Given the description of an element on the screen output the (x, y) to click on. 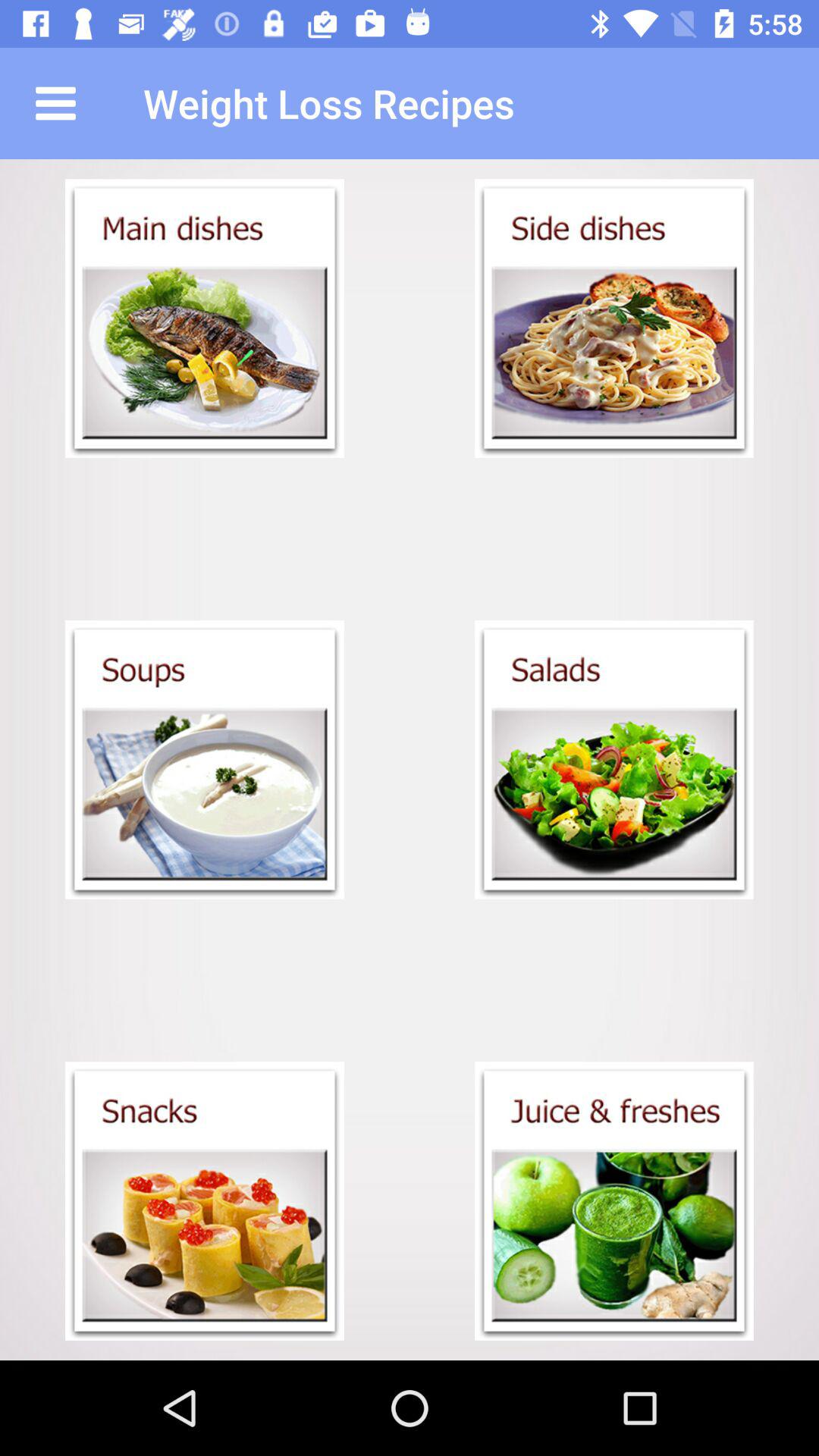
open snacks (204, 1200)
